Given the description of an element on the screen output the (x, y) to click on. 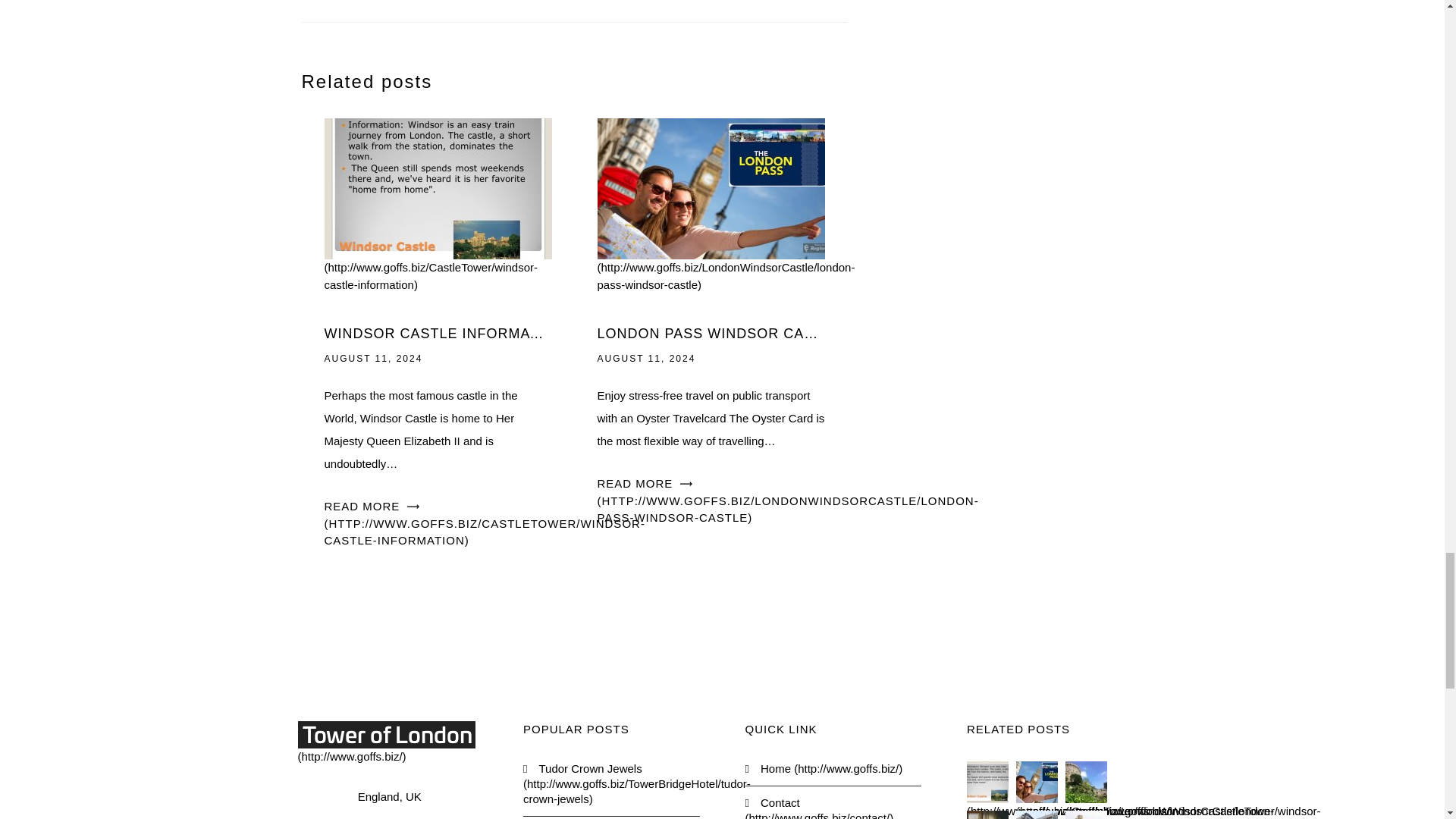
WINDSOR CASTLE INFORMATION (437, 333)
LONDON PASS WINDSOR CASTLE (710, 333)
READ MORE (787, 500)
Windsor Castle information (437, 235)
READ MORE (484, 523)
London Pass Windsor Castle (726, 235)
